Given the description of an element on the screen output the (x, y) to click on. 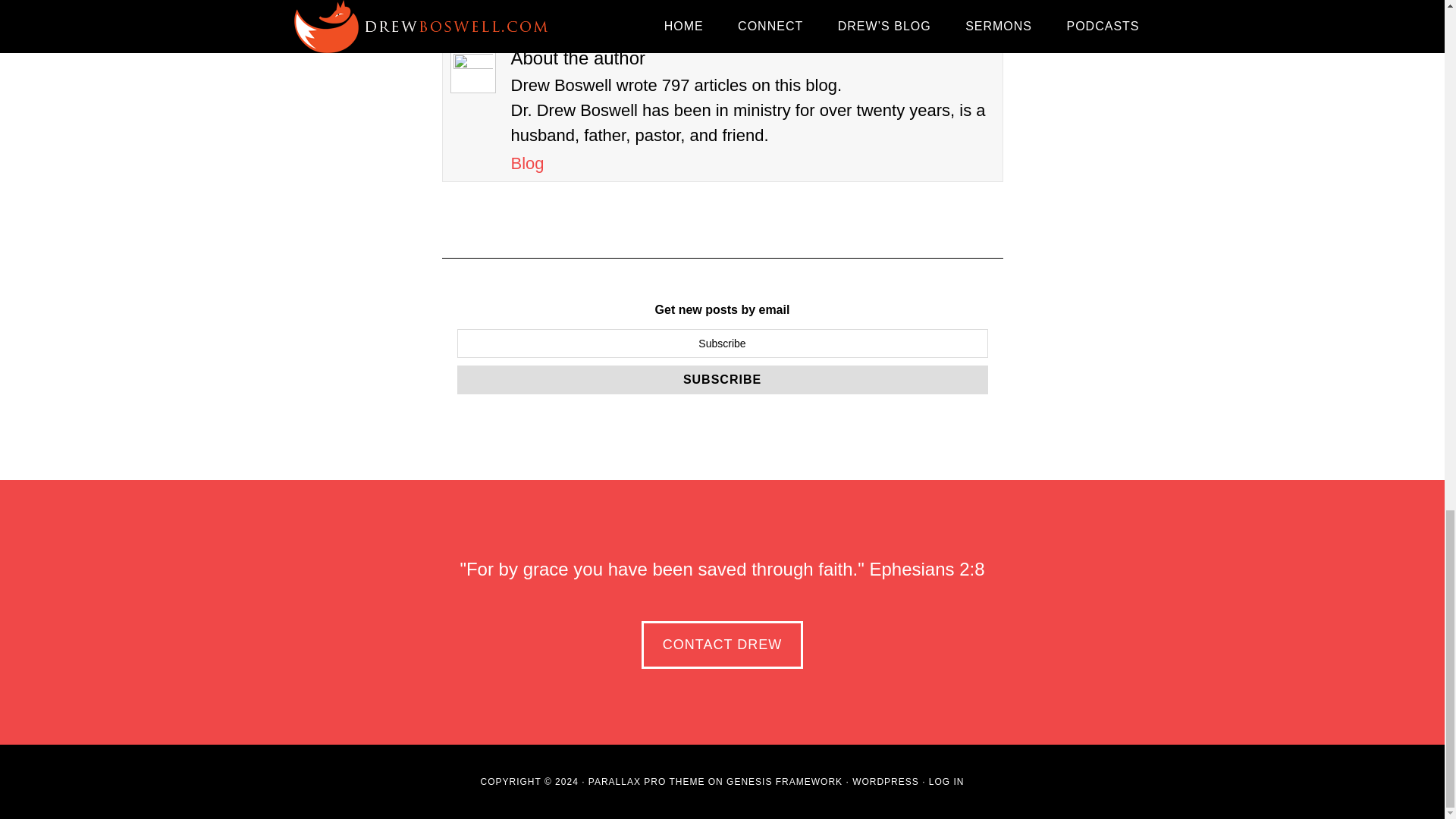
Subscribe (722, 379)
LOG IN (945, 781)
WORDPRESS (884, 781)
GENESIS FRAMEWORK (784, 781)
PARALLAX PRO THEME (646, 781)
Subscribe (722, 379)
Blog (527, 162)
CONTACT DREW (722, 644)
